Given the description of an element on the screen output the (x, y) to click on. 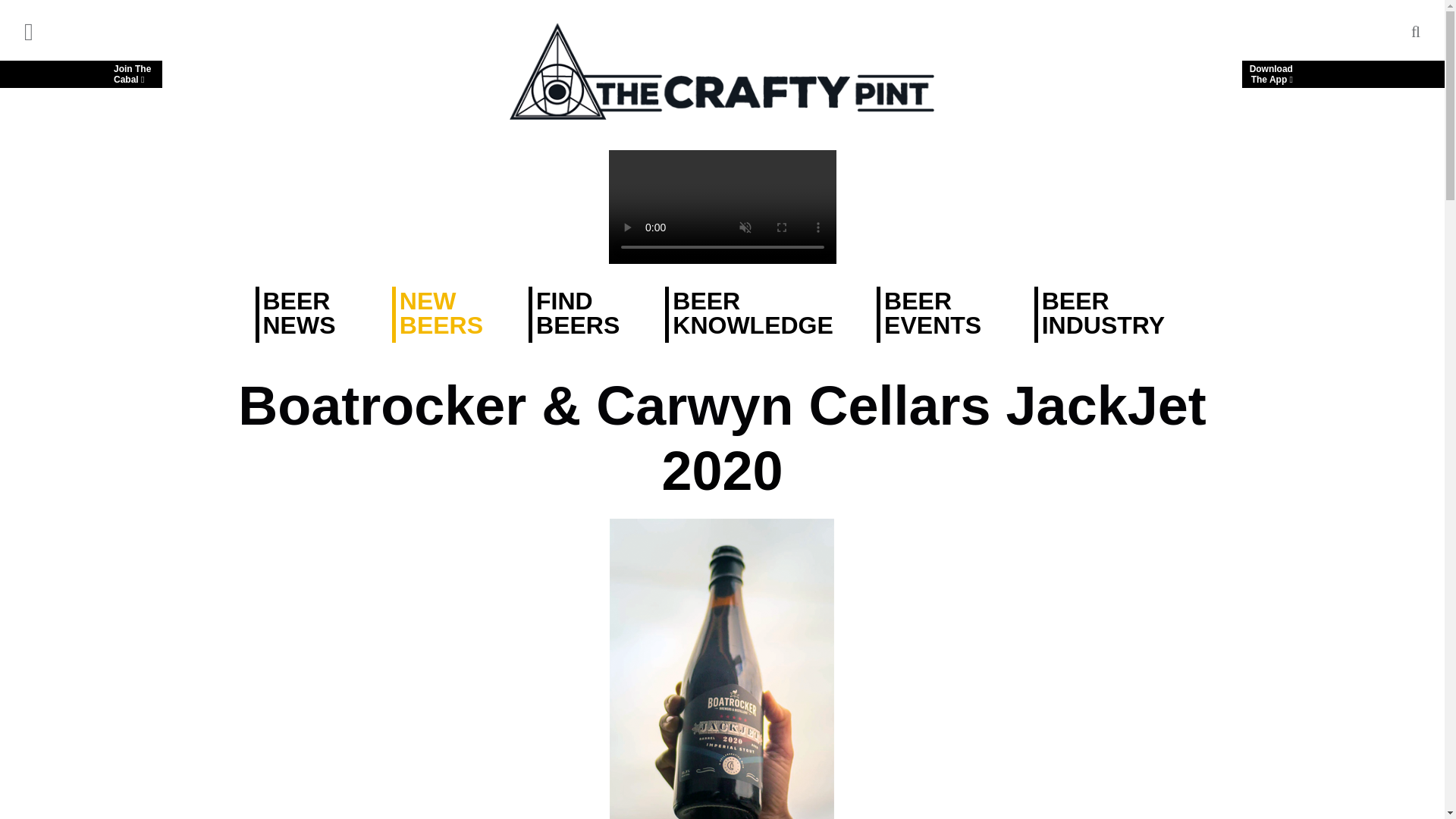
Clayton Hops 2024 (80, 73)
